Given the description of an element on the screen output the (x, y) to click on. 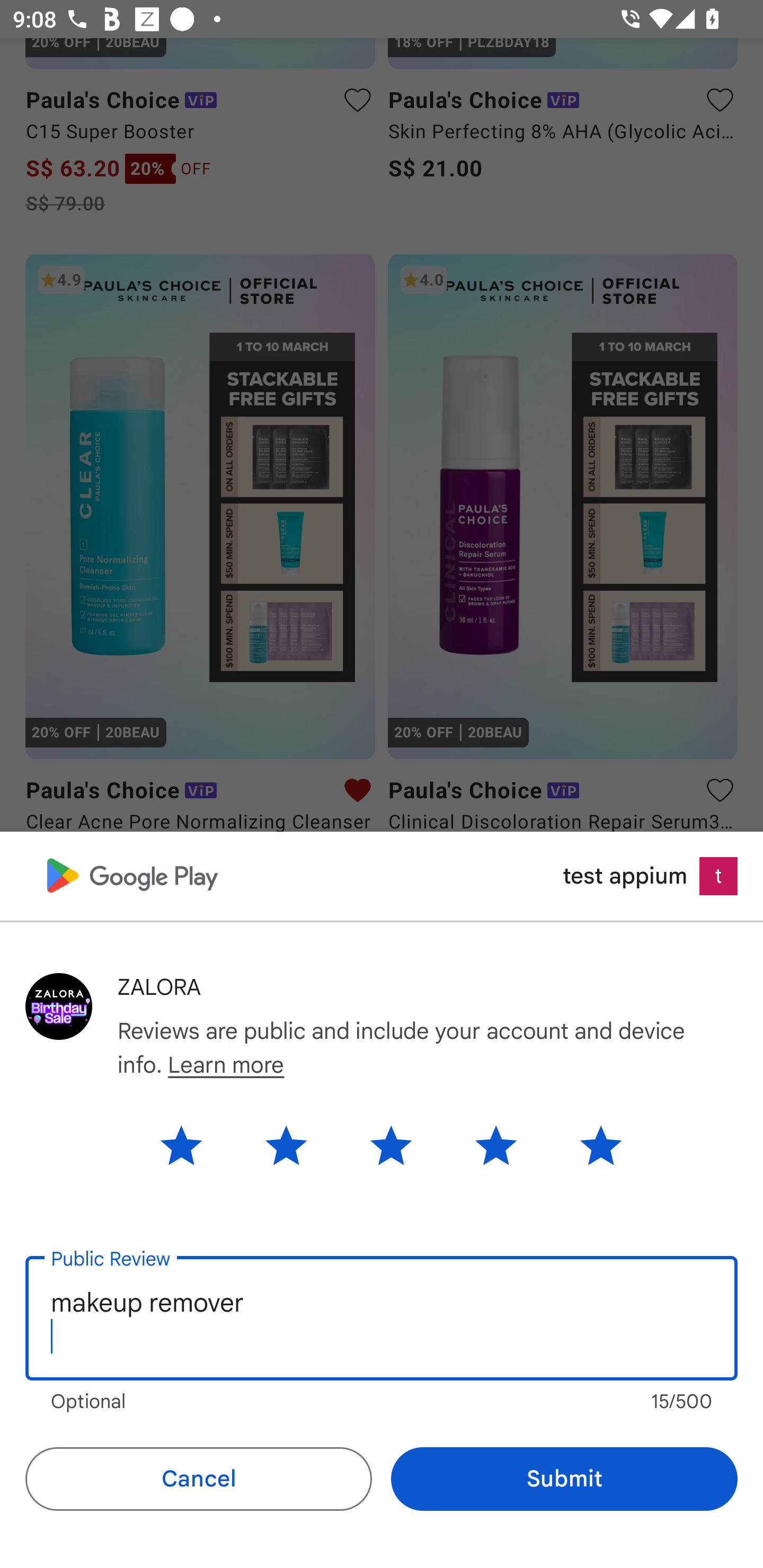
First star selected (194, 1145)
Second star selected (285, 1145)
Third star selected (390, 1145)
Fourth star selected (495, 1145)
Fifth star selected (587, 1145)
makeup remover
 (381, 1317)
Cancel (198, 1479)
Submit (563, 1479)
